Given the description of an element on the screen output the (x, y) to click on. 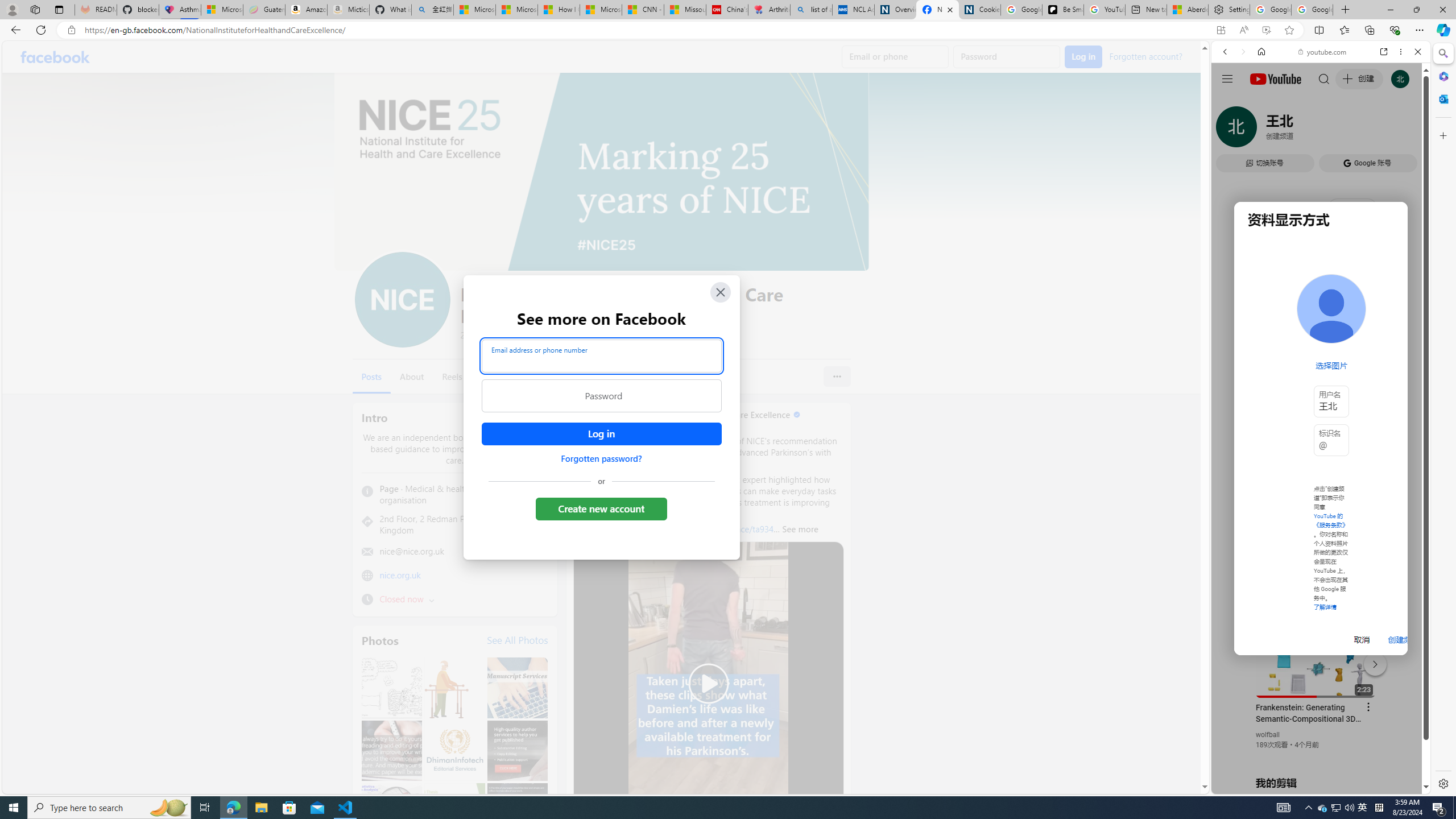
Global web icon (1232, 655)
Be Smart | creating Science videos | Patreon (1062, 9)
This site scope (1259, 102)
youtube.com (1322, 51)
Search videos from youtube.com (1299, 373)
Search Filter, Search Tools (1350, 129)
